Given the description of an element on the screen output the (x, y) to click on. 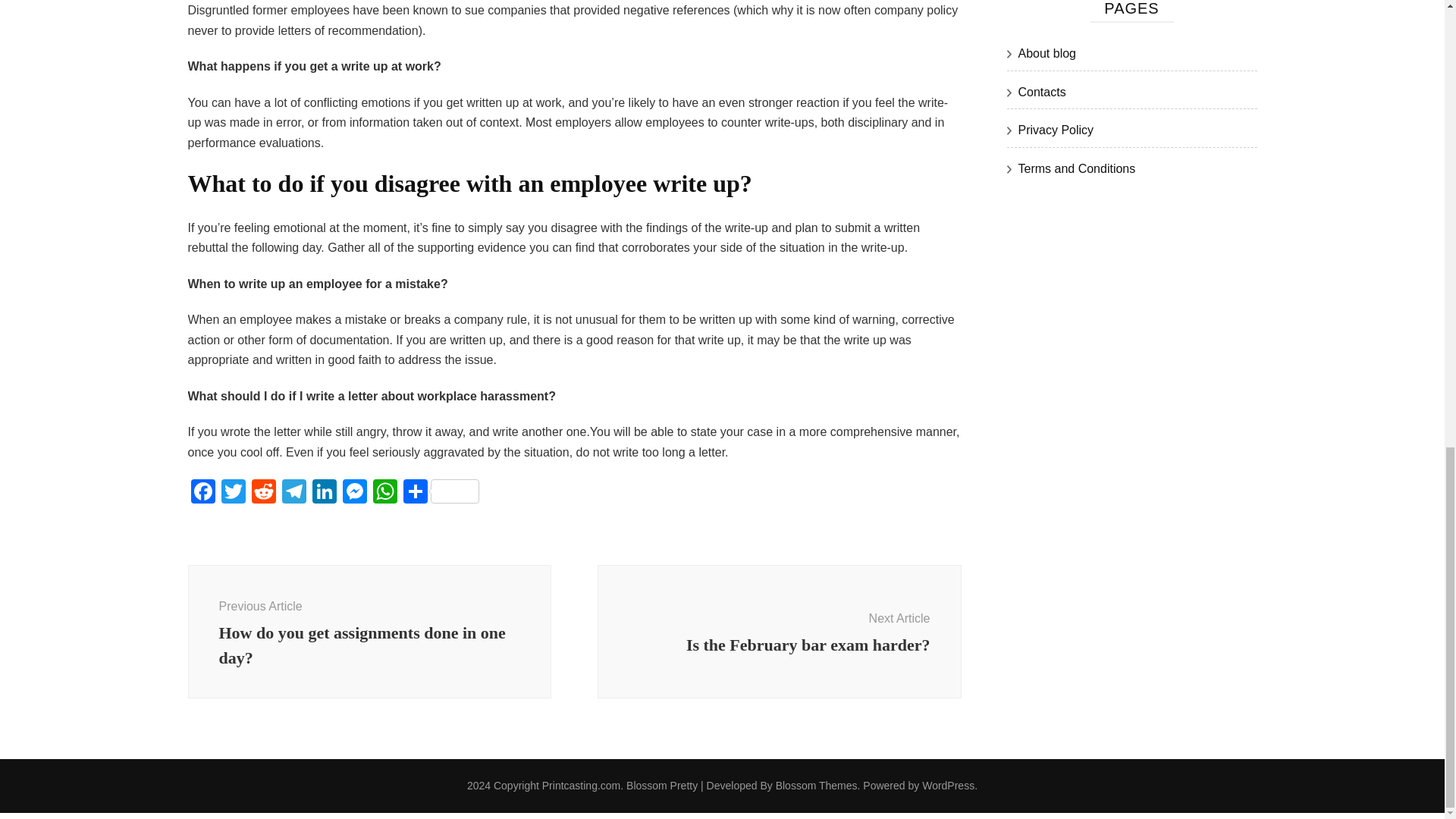
WhatsApp (384, 492)
Twitter (233, 492)
Reddit (263, 492)
Facebook (202, 492)
WhatsApp (384, 492)
Telegram (293, 492)
Reddit (263, 492)
Facebook (202, 492)
Telegram (293, 492)
